Given the description of an element on the screen output the (x, y) to click on. 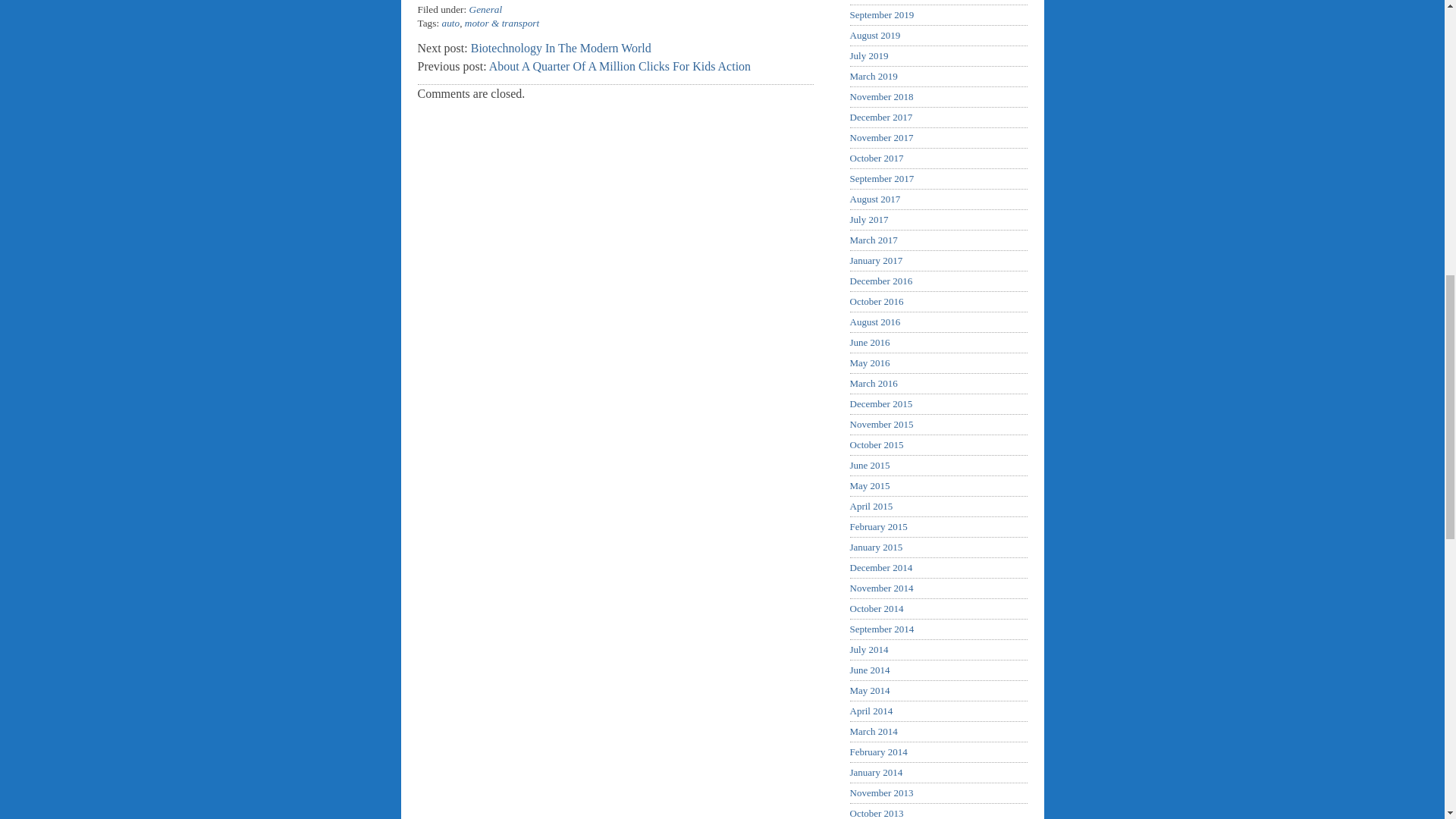
auto (450, 22)
About A Quarter Of A Million Clicks For Kids Action (620, 65)
July 2019 (868, 55)
March 2019 (872, 75)
Biotechnology In The Modern World (560, 47)
November 2018 (880, 96)
September 2019 (881, 14)
August 2019 (873, 34)
General (485, 9)
